Given the description of an element on the screen output the (x, y) to click on. 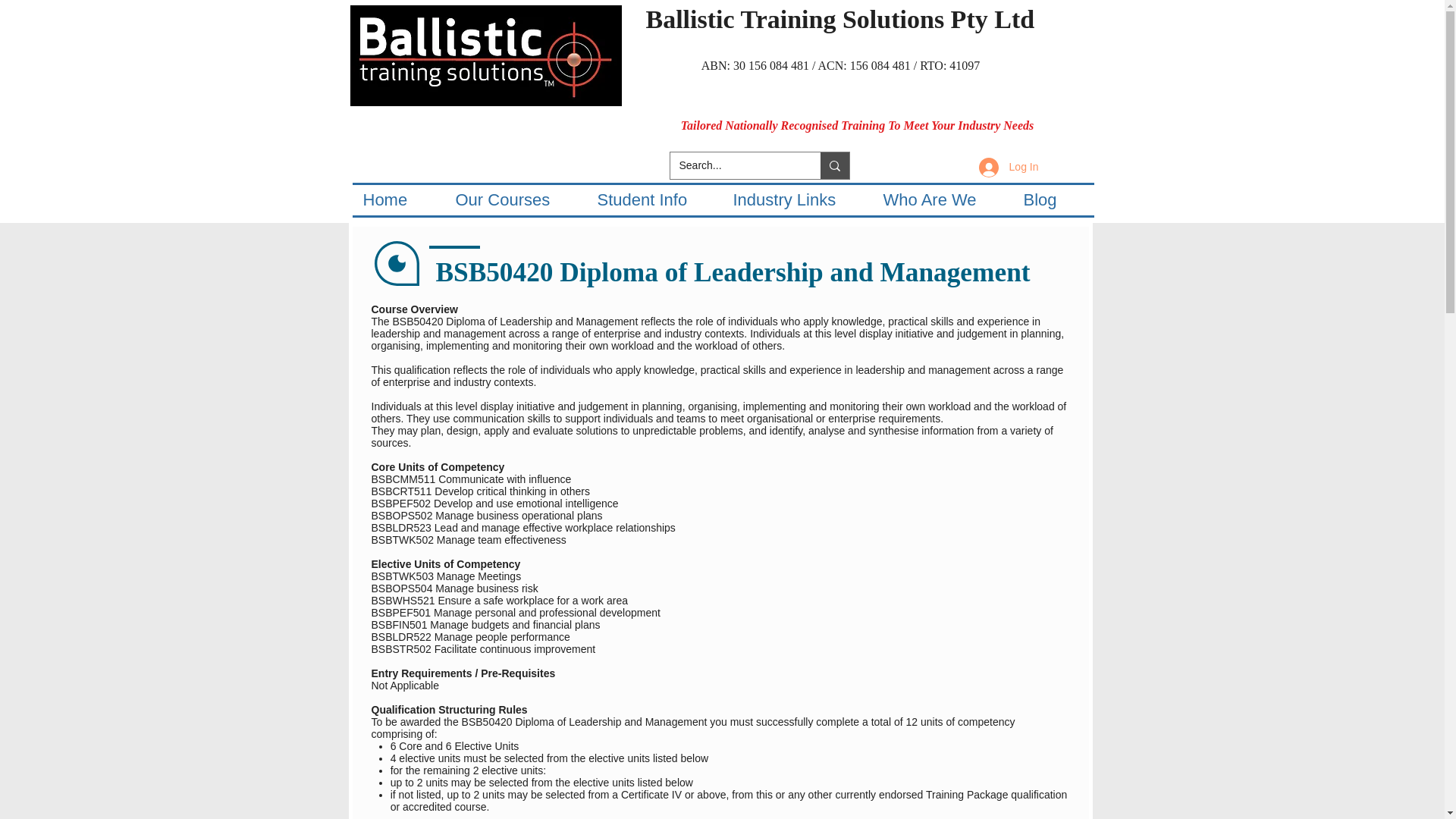
Log In (1008, 167)
Home (398, 200)
Blog (1053, 200)
